Given the description of an element on the screen output the (x, y) to click on. 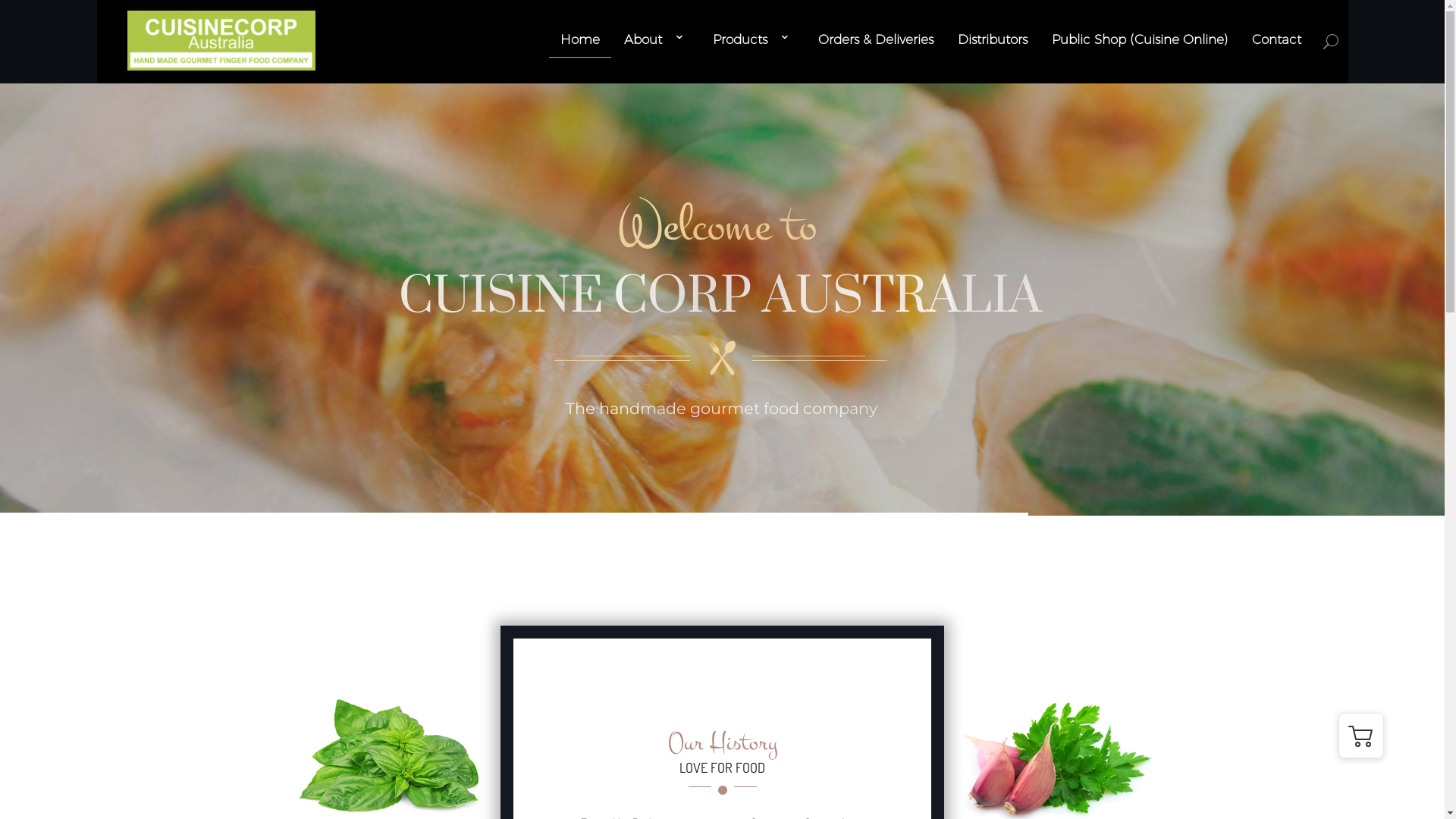
About Element type: text (655, 39)
Contact Element type: text (1275, 39)
Products Element type: text (753, 39)
Orders & Deliveries Element type: text (874, 39)
Distributors Element type: text (991, 39)
Public Shop (Cuisine Online) Element type: text (1138, 39)
Home Element type: text (579, 39)
